Given the description of an element on the screen output the (x, y) to click on. 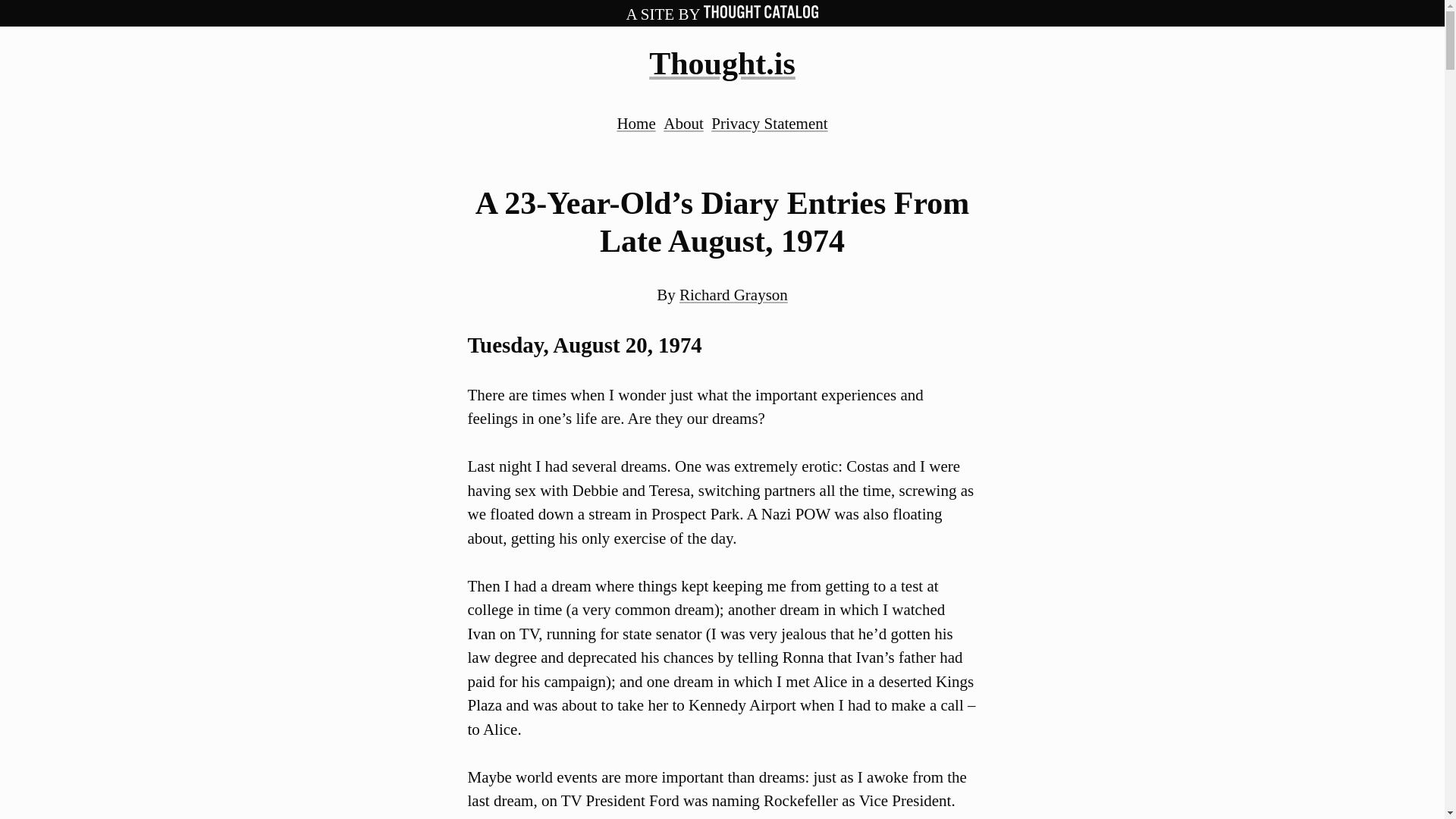
Richard Grayson (733, 294)
Thought.is (721, 63)
Privacy Statement (769, 123)
THOUGHT CATALOG (760, 13)
About (683, 123)
THOUGHT CATALOG (760, 11)
Home (635, 123)
Posts by Richard Grayson (733, 294)
